Given the description of an element on the screen output the (x, y) to click on. 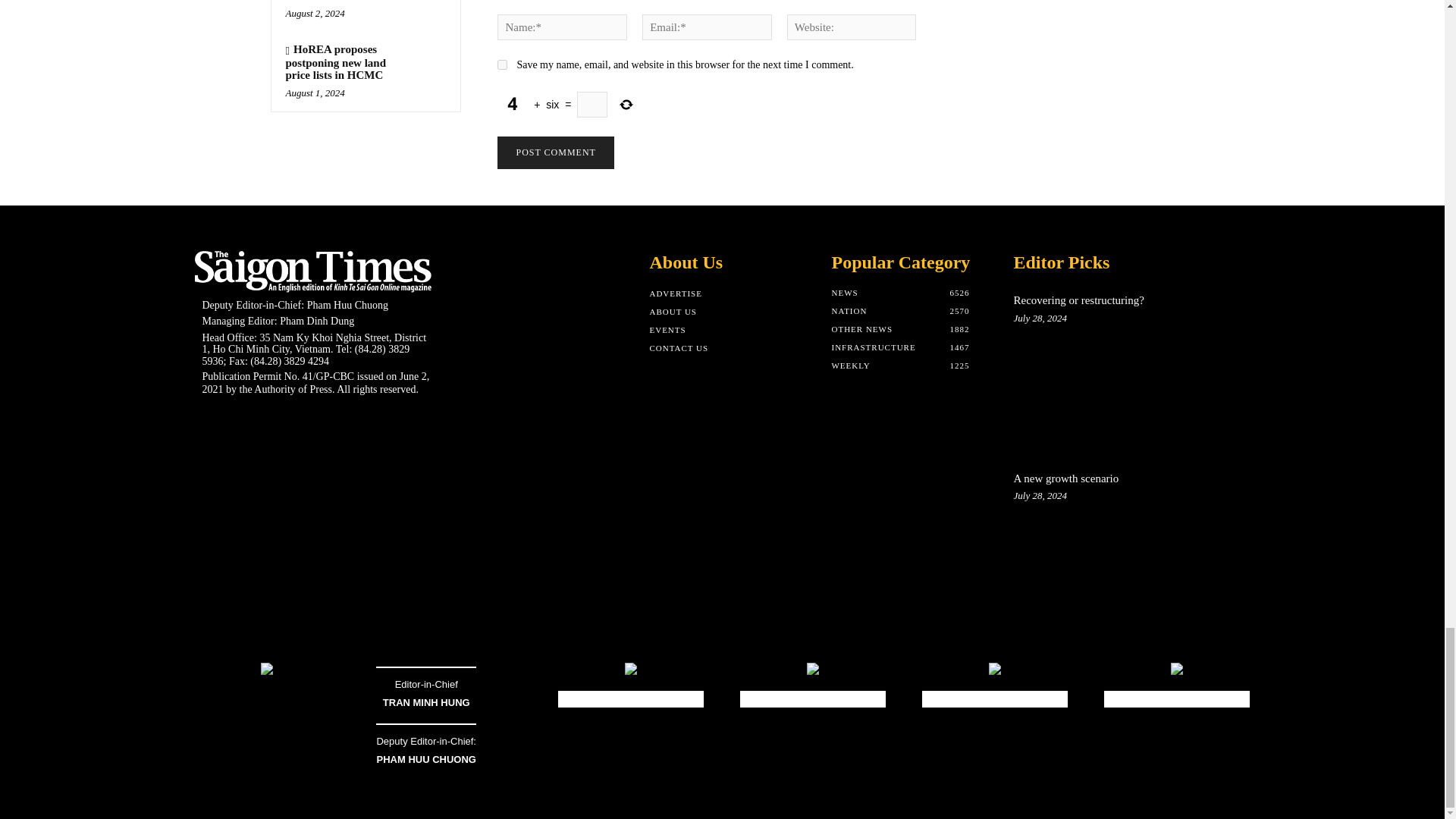
yes (501, 64)
Post Comment (554, 152)
